Given the description of an element on the screen output the (x, y) to click on. 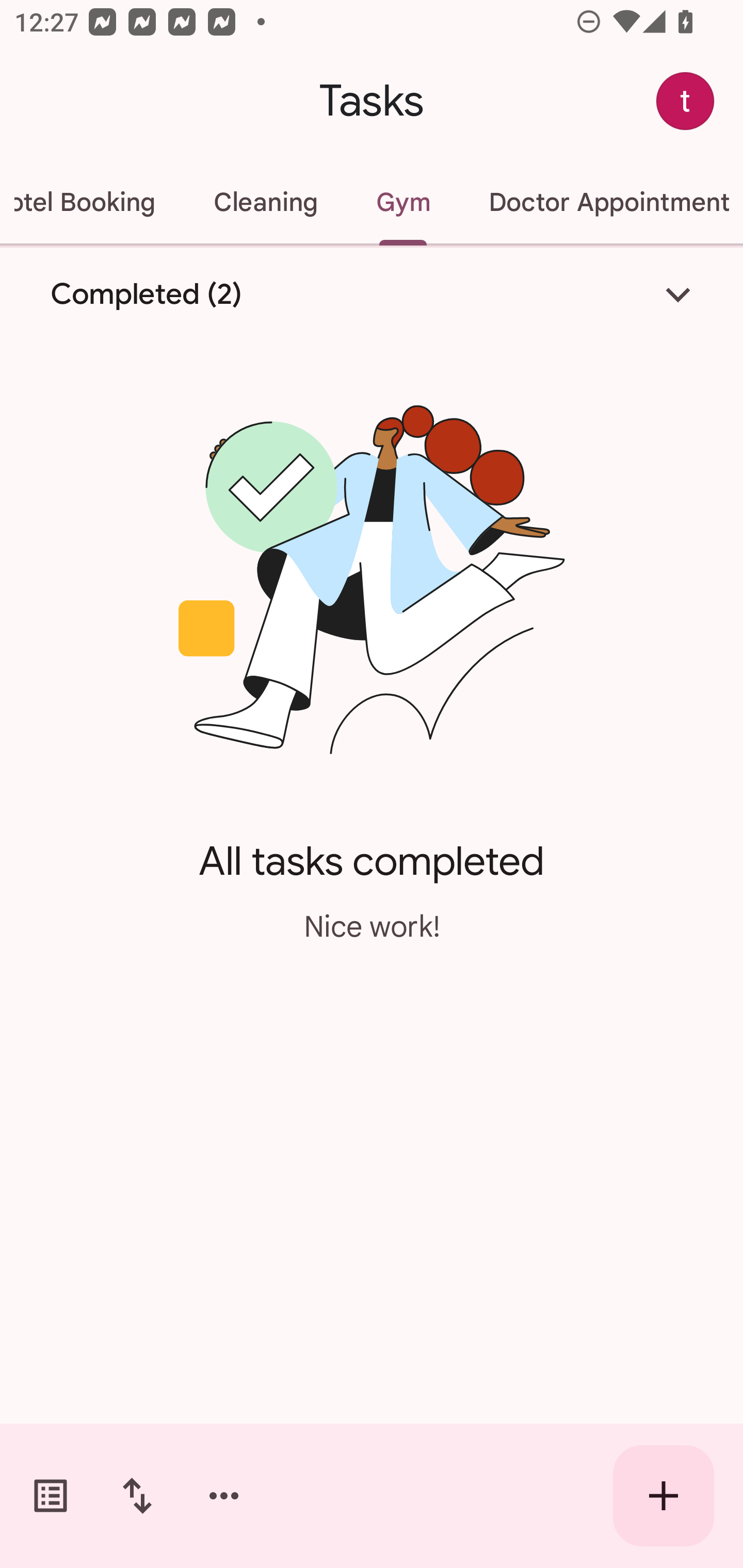
Hotel Booking (92, 202)
Cleaning (265, 202)
Doctor Appointment (601, 202)
Completed (2) (371, 294)
Switch task lists (50, 1495)
Create new task (663, 1495)
Change sort order (136, 1495)
More options (223, 1495)
